Given the description of an element on the screen output the (x, y) to click on. 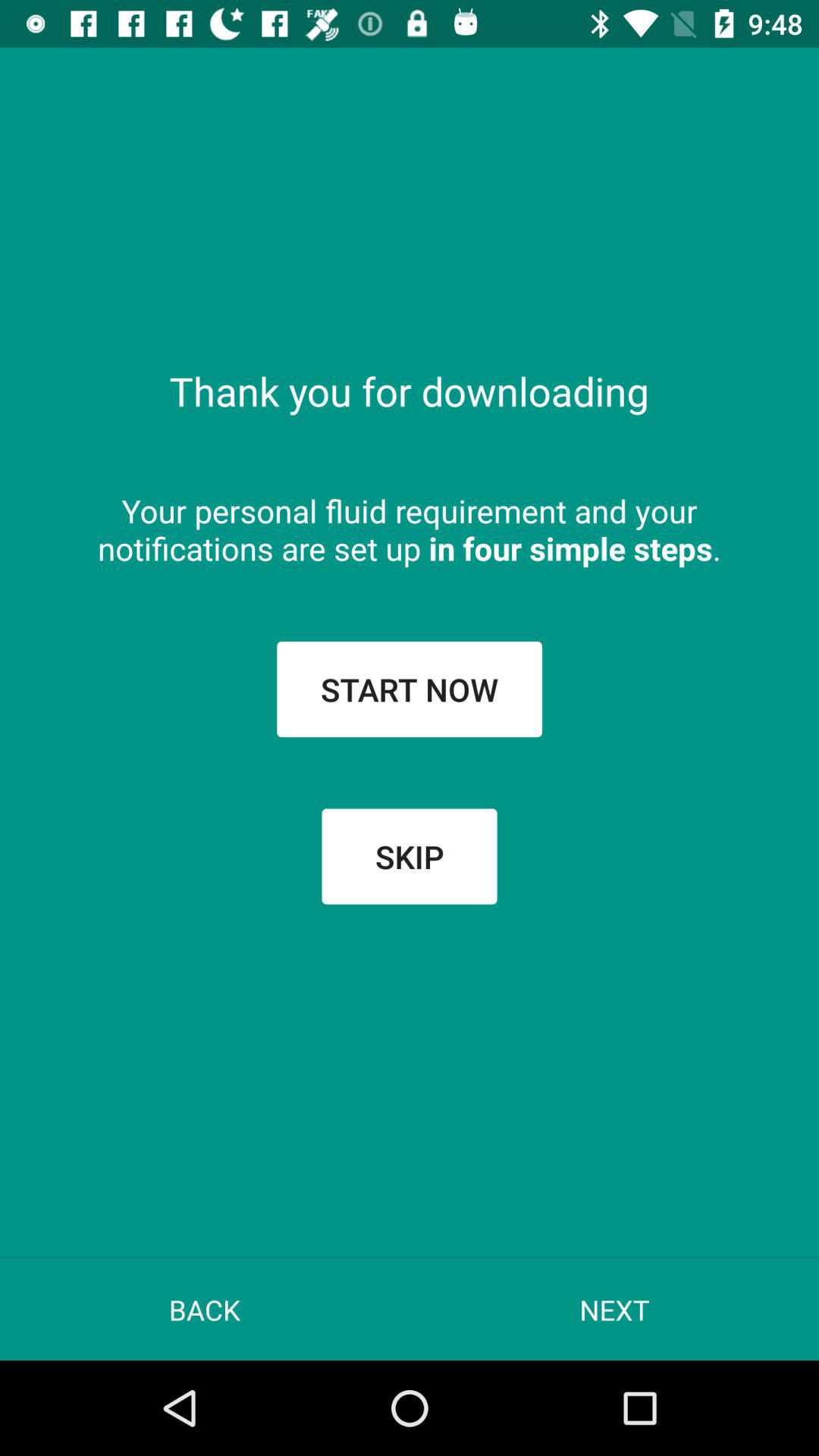
select icon above skip (409, 689)
